Given the description of an element on the screen output the (x, y) to click on. 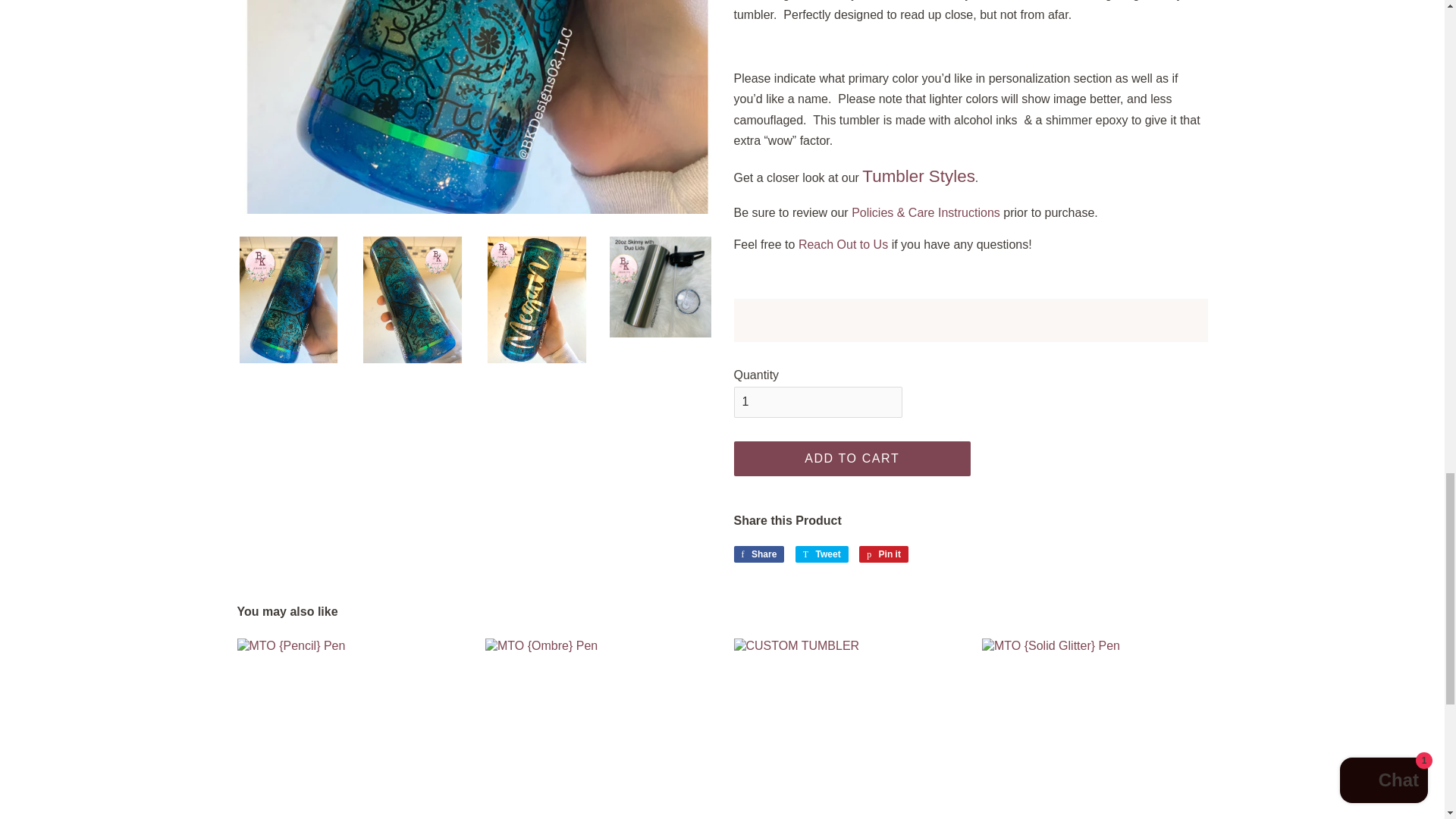
1 (817, 401)
Pin on Pinterest (883, 554)
Tweet on Twitter (821, 554)
Share on Facebook (758, 554)
